Given the description of an element on the screen output the (x, y) to click on. 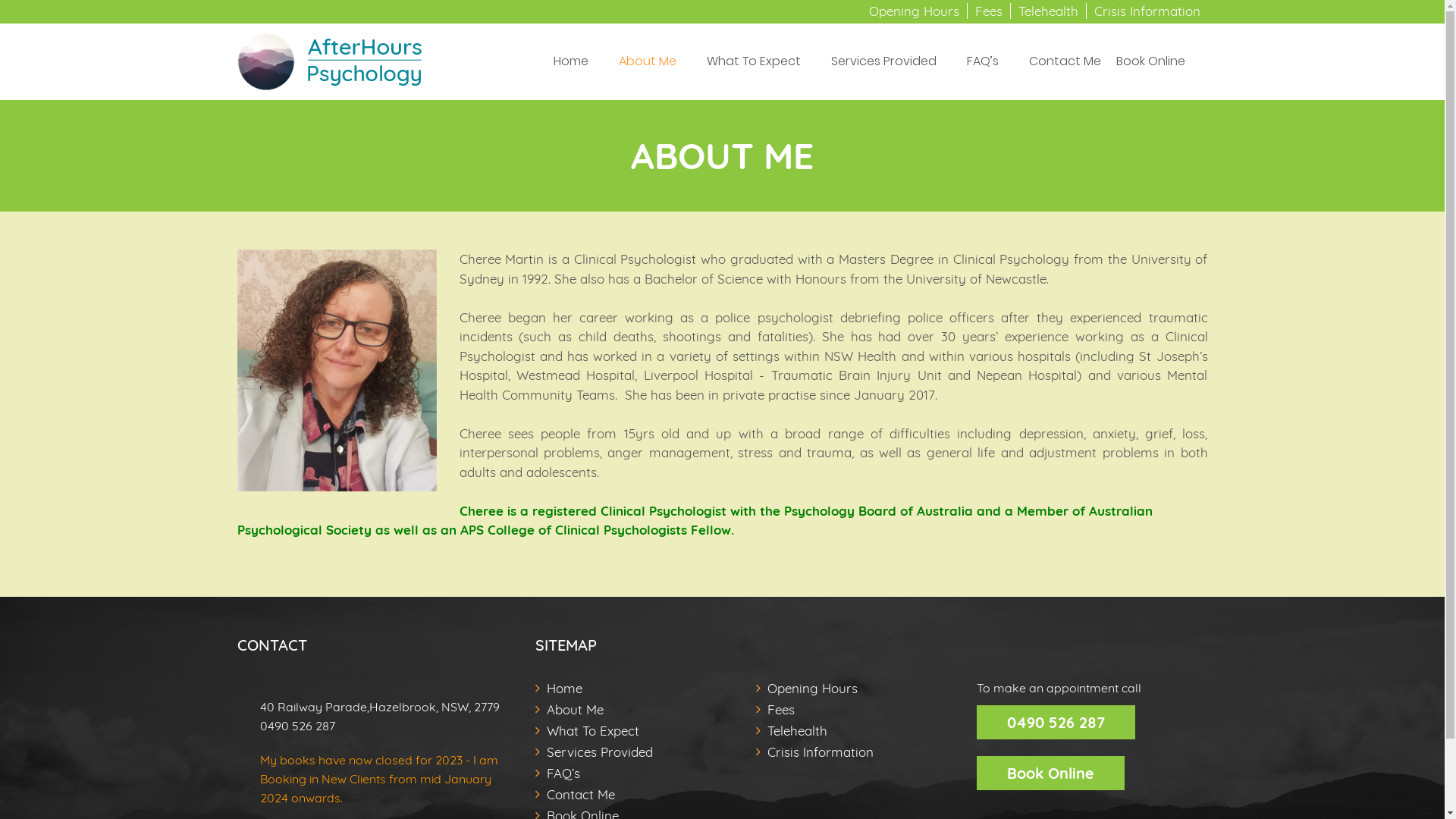
AfterHours Psychology Element type: hover (328, 42)
Services Provided Element type: text (599, 752)
Book Online Element type: text (1050, 773)
Telehealth Element type: text (797, 731)
Contact Me Element type: text (1064, 61)
Crisis Information Element type: text (820, 752)
What To Expect Element type: text (753, 61)
0490 526 287 Element type: text (383, 725)
About Me Element type: text (647, 61)
About Me Element type: text (574, 710)
Crisis Information Element type: text (1146, 10)
Fees Element type: text (780, 710)
Contact Me Element type: text (580, 795)
What To Expect Element type: text (592, 731)
Opening Hours Element type: text (812, 688)
Telehealth Element type: text (1047, 10)
Services Provided Element type: text (883, 61)
Home Element type: text (570, 61)
Home Element type: text (564, 688)
Opening Hours Element type: text (914, 10)
Book Online Element type: text (1150, 61)
0490 526 287 Element type: text (1055, 722)
Fees Element type: text (988, 10)
